Given the description of an element on the screen output the (x, y) to click on. 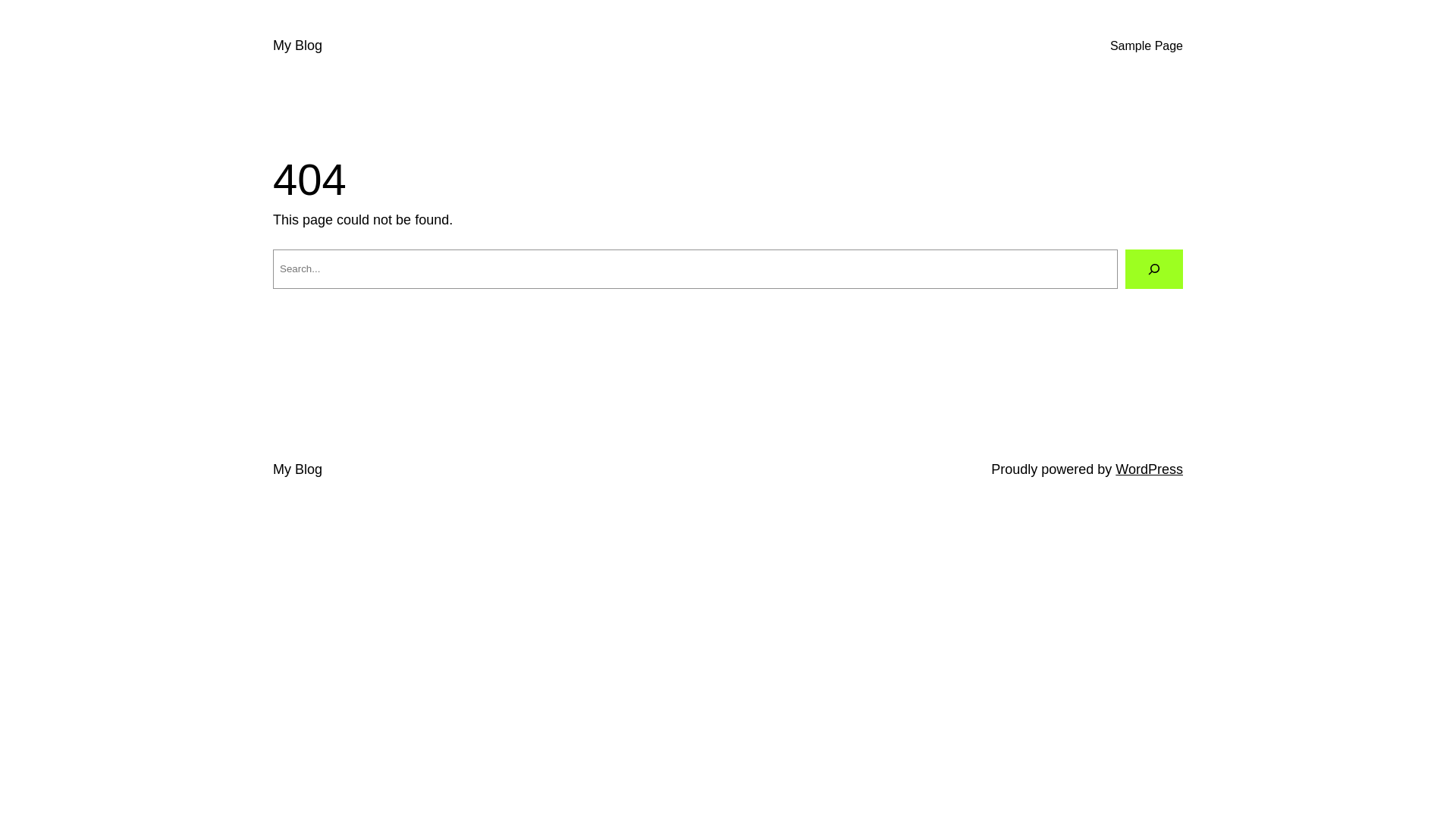
WordPress Element type: text (1149, 468)
My Blog Element type: text (297, 468)
Sample Page Element type: text (1146, 46)
My Blog Element type: text (297, 45)
